Given the description of an element on the screen output the (x, y) to click on. 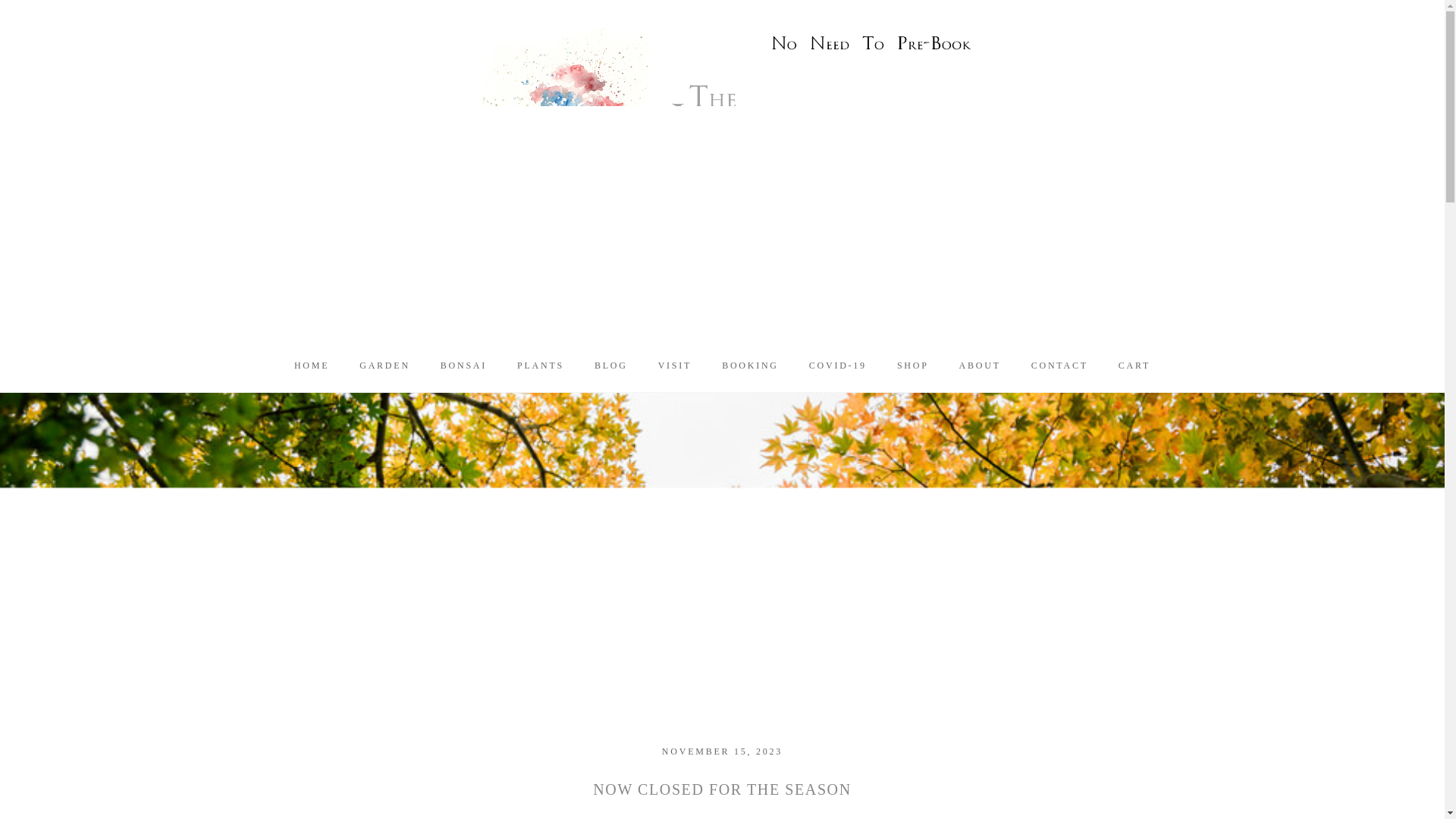
HOME (311, 365)
GARDEN (384, 365)
